Given the description of an element on the screen output the (x, y) to click on. 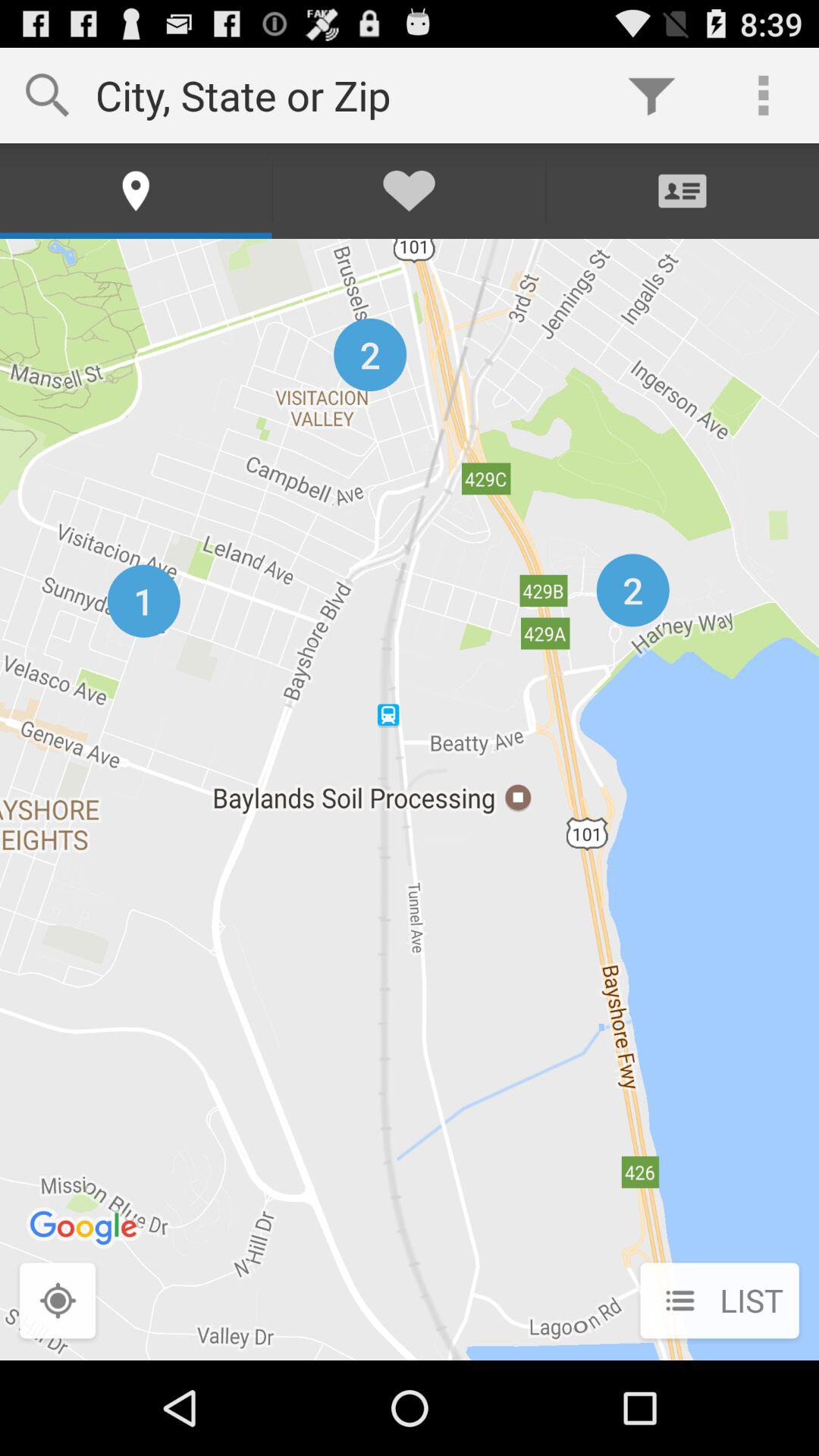
select the app to the right of the city state or icon (651, 95)
